Given the description of an element on the screen output the (x, y) to click on. 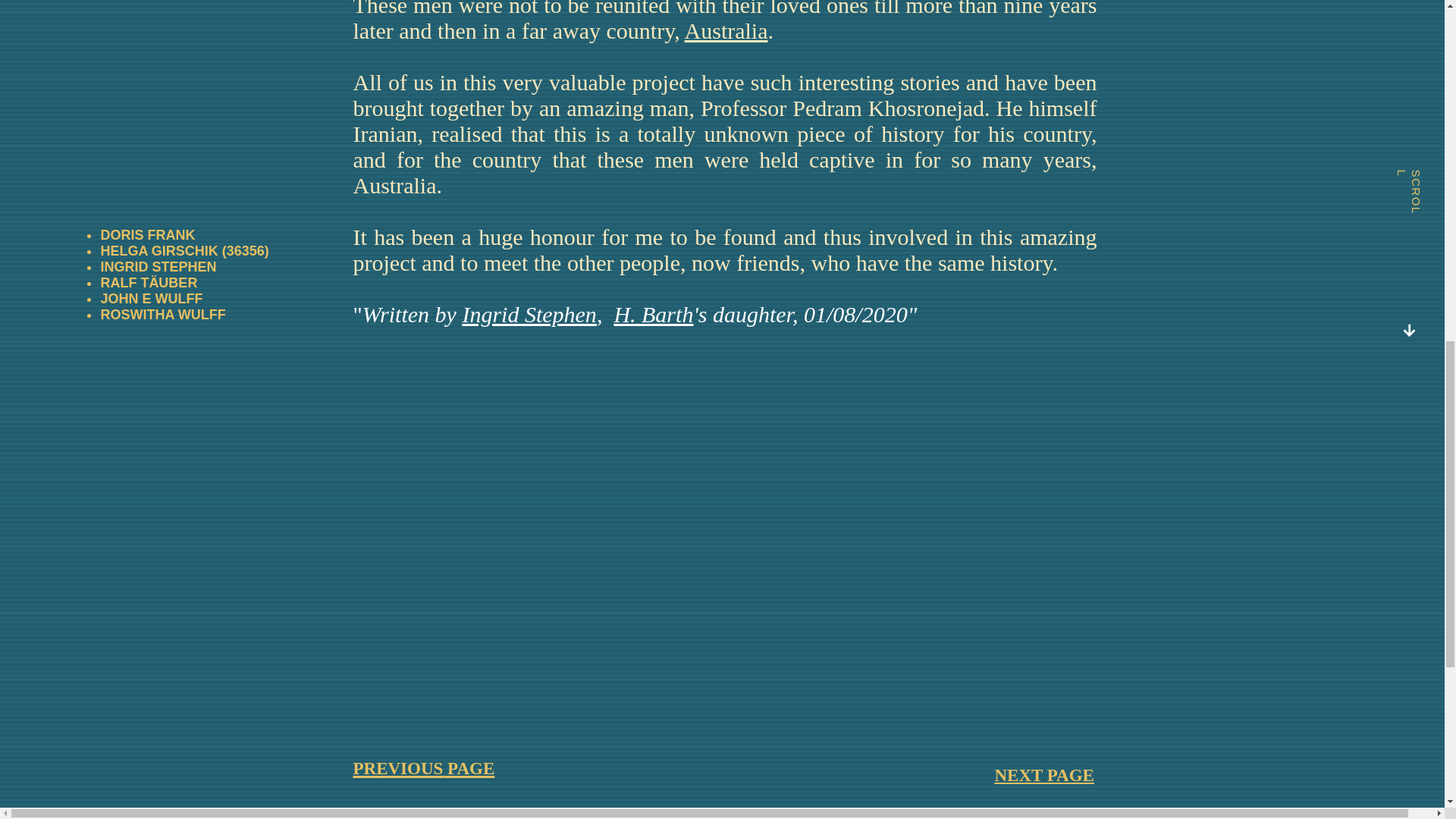
Ingrid Stephen (528, 314)
Australia (726, 30)
H. Barth (652, 314)
